Given the description of an element on the screen output the (x, y) to click on. 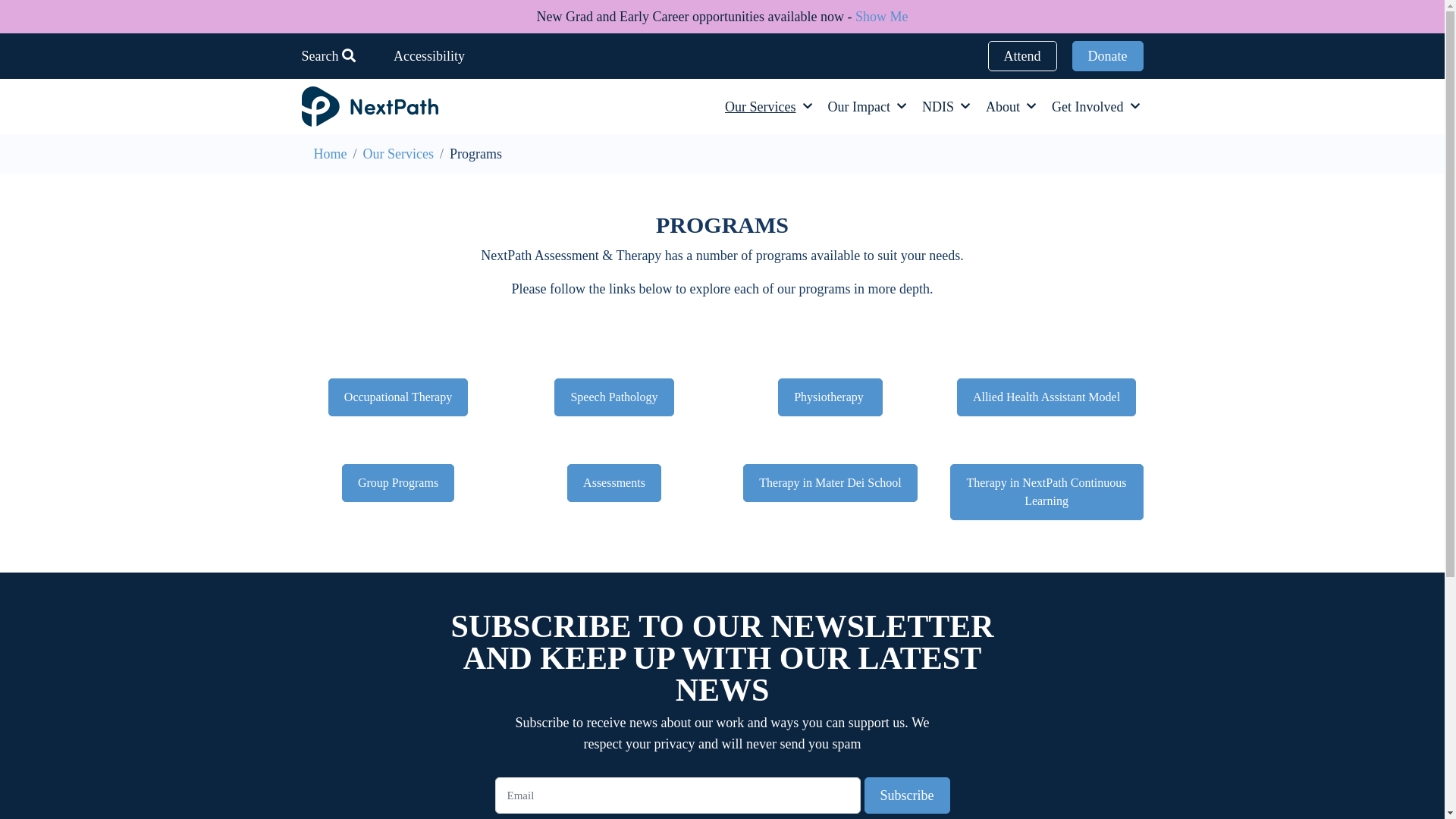
Therapy in NextPath Continuous Learning Element type: text (1045, 492)
Donate Element type: text (1107, 55)
Our Impact Element type: text (858, 105)
Occupational Therapy Element type: text (397, 397)
Allied Health Assistant Model Element type: text (1046, 397)
Attend Element type: text (1022, 55)
Subscribe Element type: text (907, 795)
Assessments Element type: text (614, 483)
Physiotherapy  Element type: text (830, 397)
Therapy in Mater Dei School Element type: text (830, 483)
Show Me Element type: text (881, 16)
Speech Pathology Element type: text (613, 397)
Our Services Element type: text (398, 153)
Get Involved Element type: text (1087, 105)
About Element type: text (1002, 105)
Our Services Element type: text (759, 105)
Home Element type: text (330, 153)
NDIS Element type: text (938, 105)
Group Programs Element type: text (398, 483)
